Given the description of an element on the screen output the (x, y) to click on. 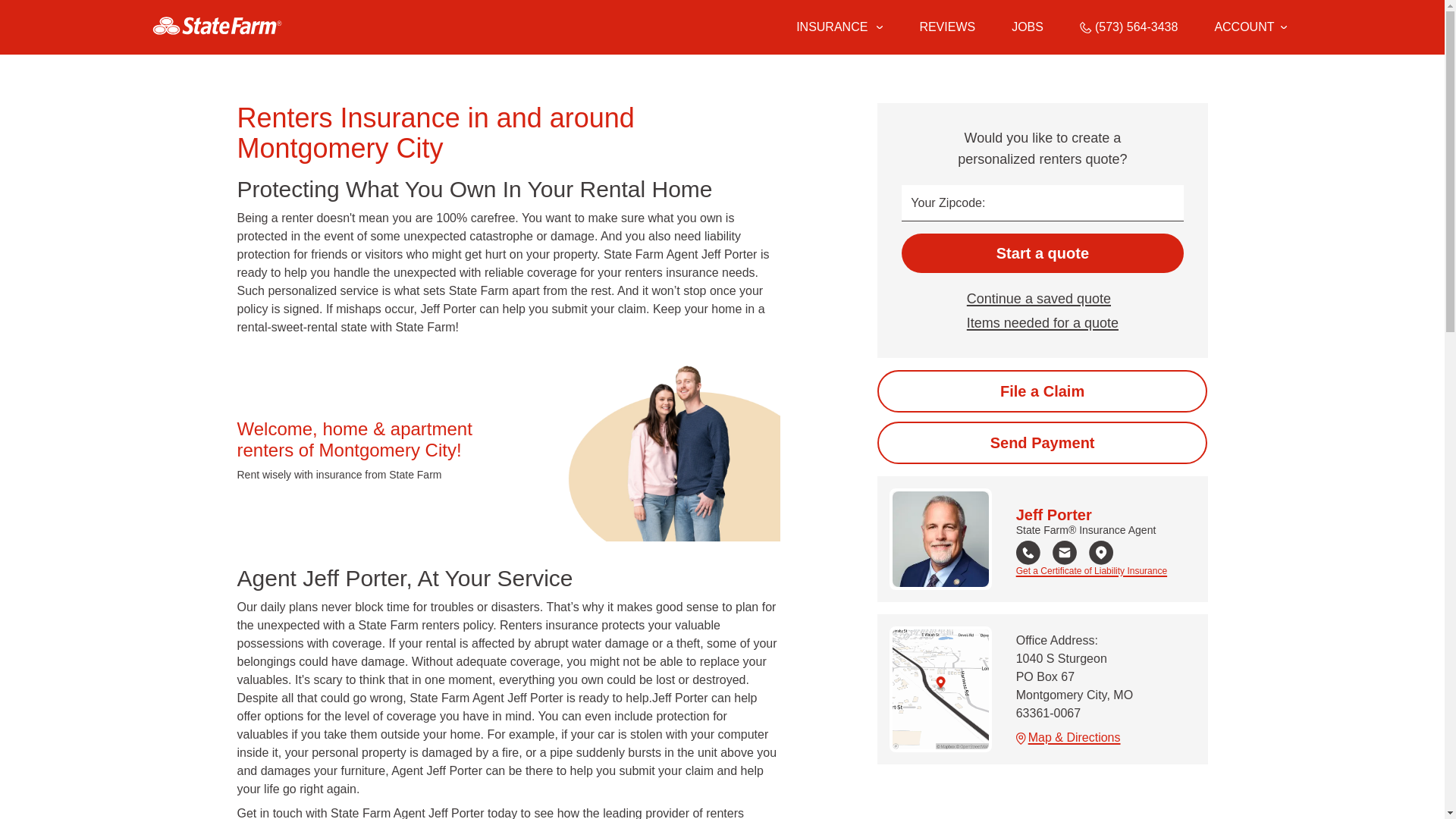
Start the claim process online (1042, 391)
REVIEWS (946, 27)
JOBS (1027, 27)
Account Options (1250, 27)
INSURANCE (830, 27)
ACCOUNT (1250, 27)
Insurance (839, 27)
